Given the description of an element on the screen output the (x, y) to click on. 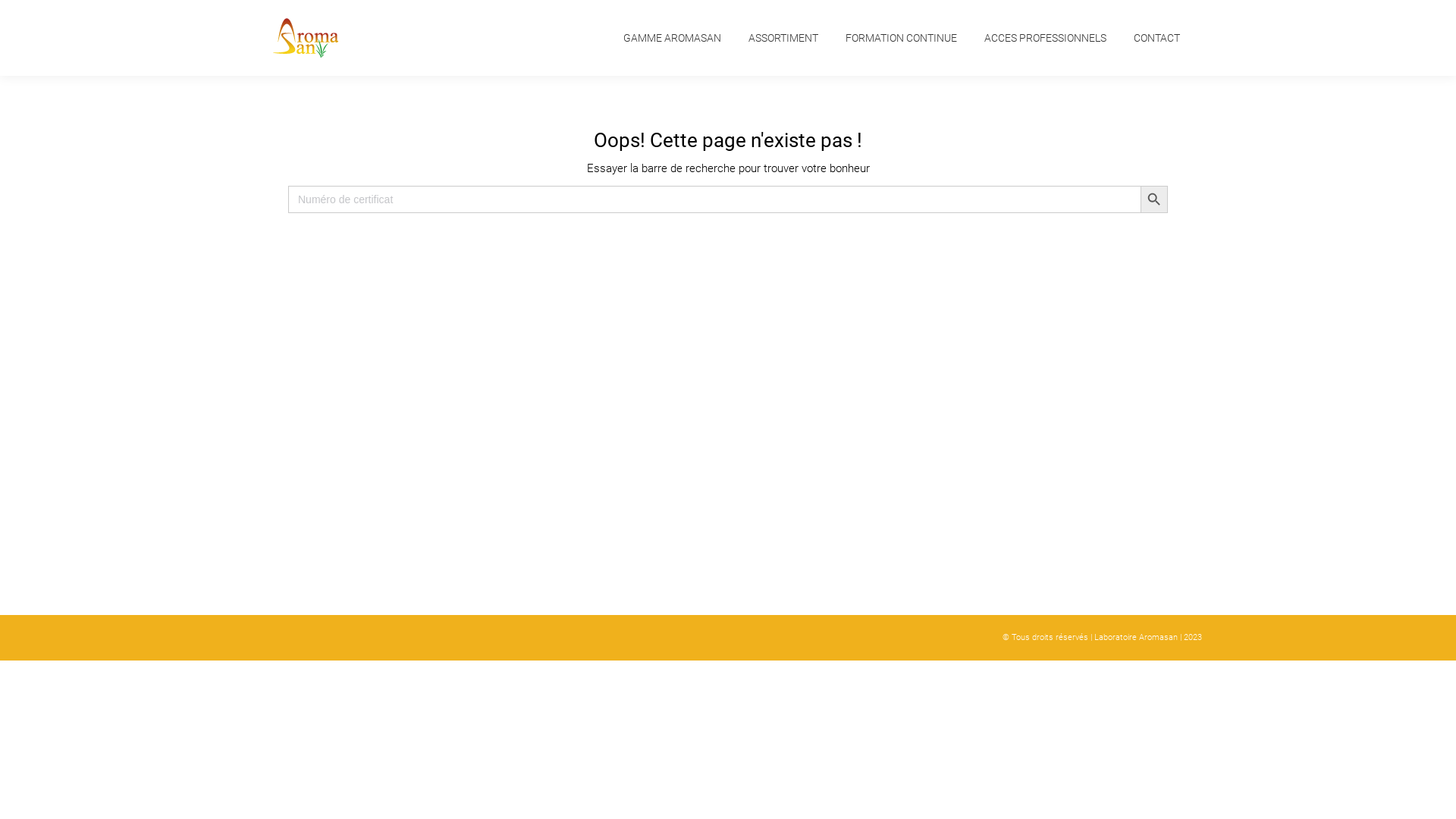
GAMME AROMASAN Element type: text (672, 37)
FORMATION CONTINUE Element type: text (901, 37)
ASSORTIMENT Element type: text (783, 37)
CONTACT Element type: text (1156, 37)
Search Button Element type: text (1153, 199)
ACCES PROFESSIONNELS Element type: text (1045, 37)
